Given the description of an element on the screen output the (x, y) to click on. 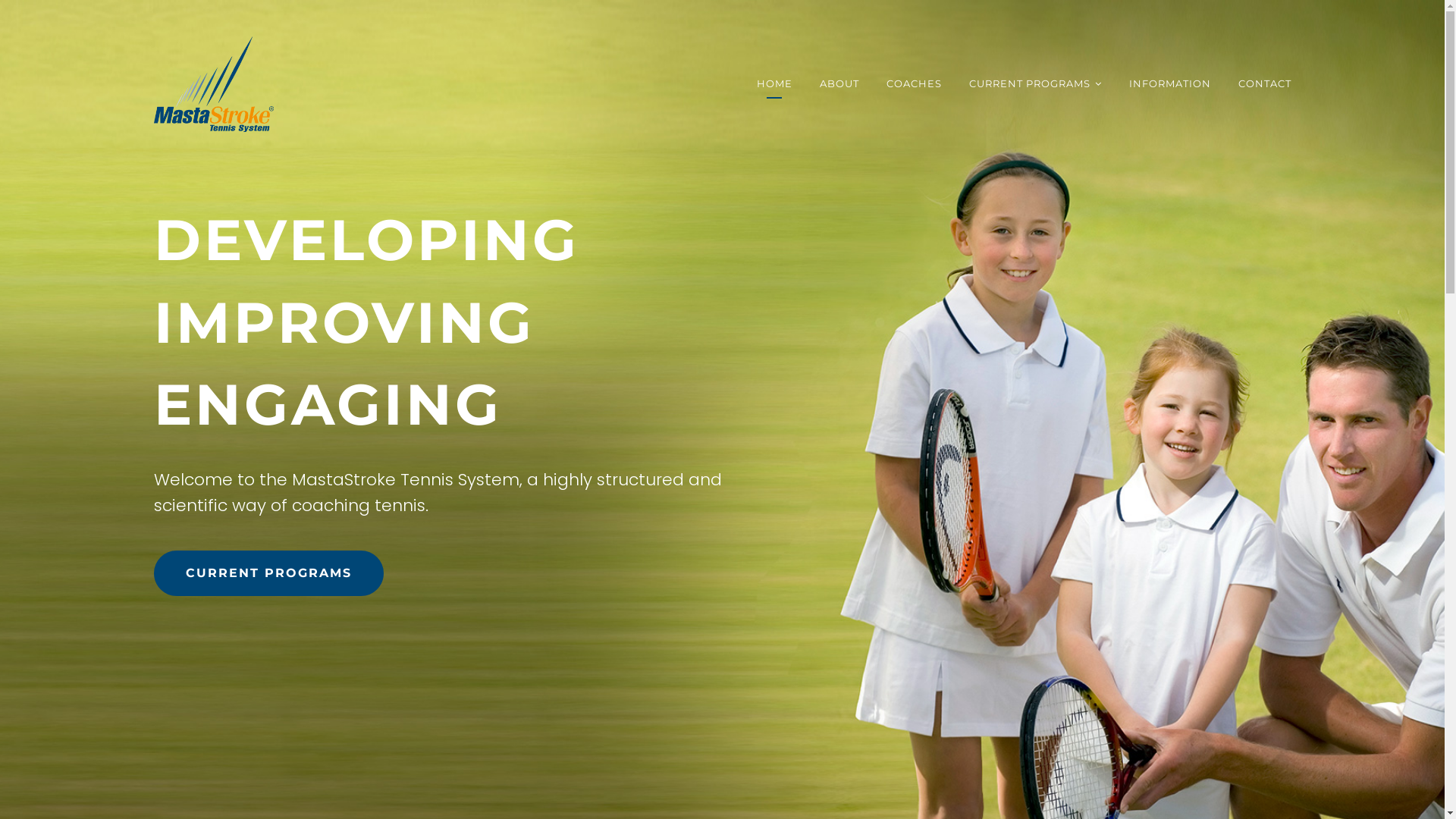
CURRENT PROGRAMS Element type: text (267, 573)
HOME Element type: text (774, 83)
CURRENT PROGRAMS Element type: text (1029, 83)
CONTACT Element type: text (1263, 83)
COACHES Element type: text (913, 83)
ABOUT Element type: text (838, 83)
INFORMATION Element type: text (1169, 83)
